Given the description of an element on the screen output the (x, y) to click on. 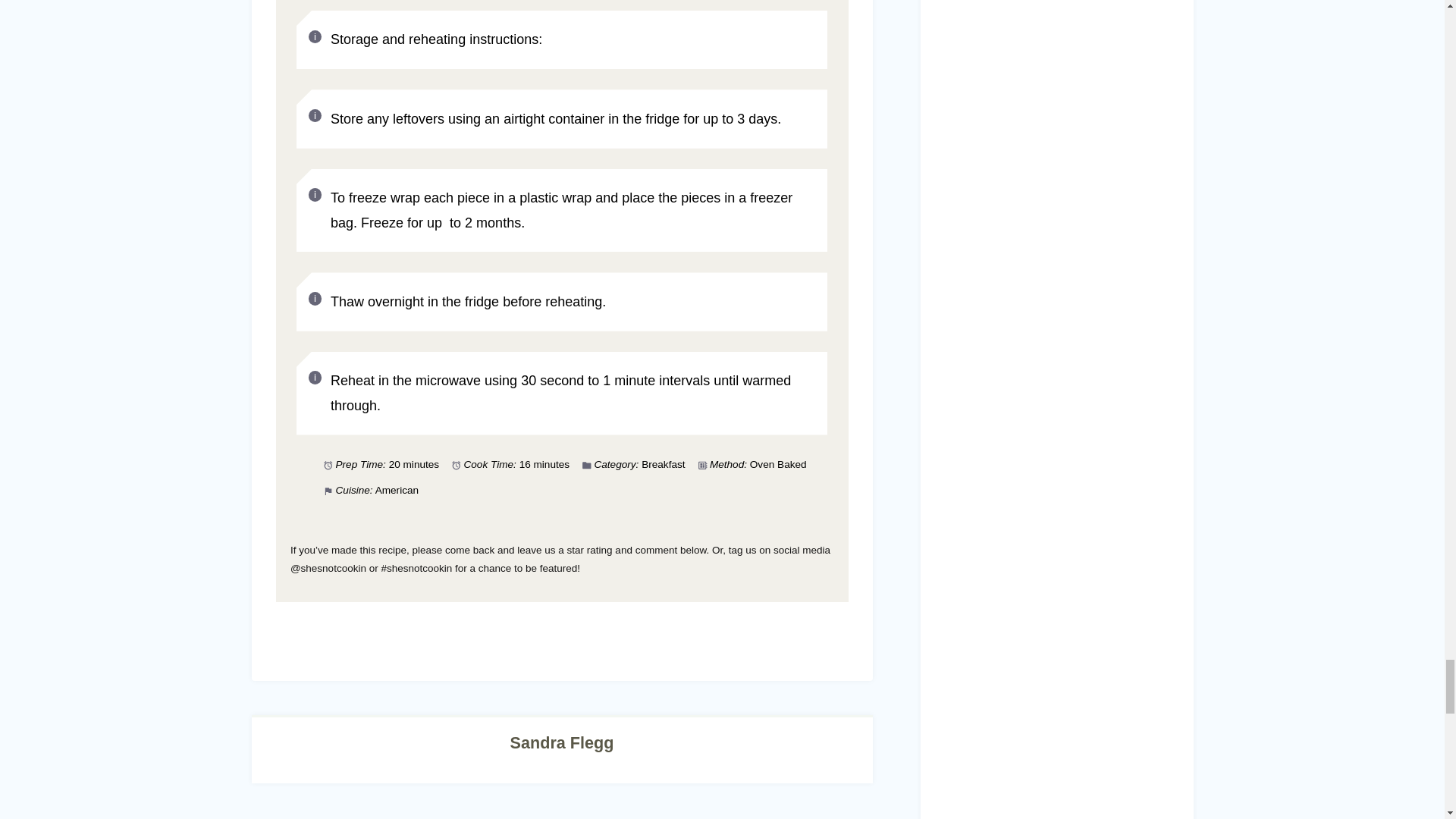
Posts by Sandra Flegg (562, 742)
